Given the description of an element on the screen output the (x, y) to click on. 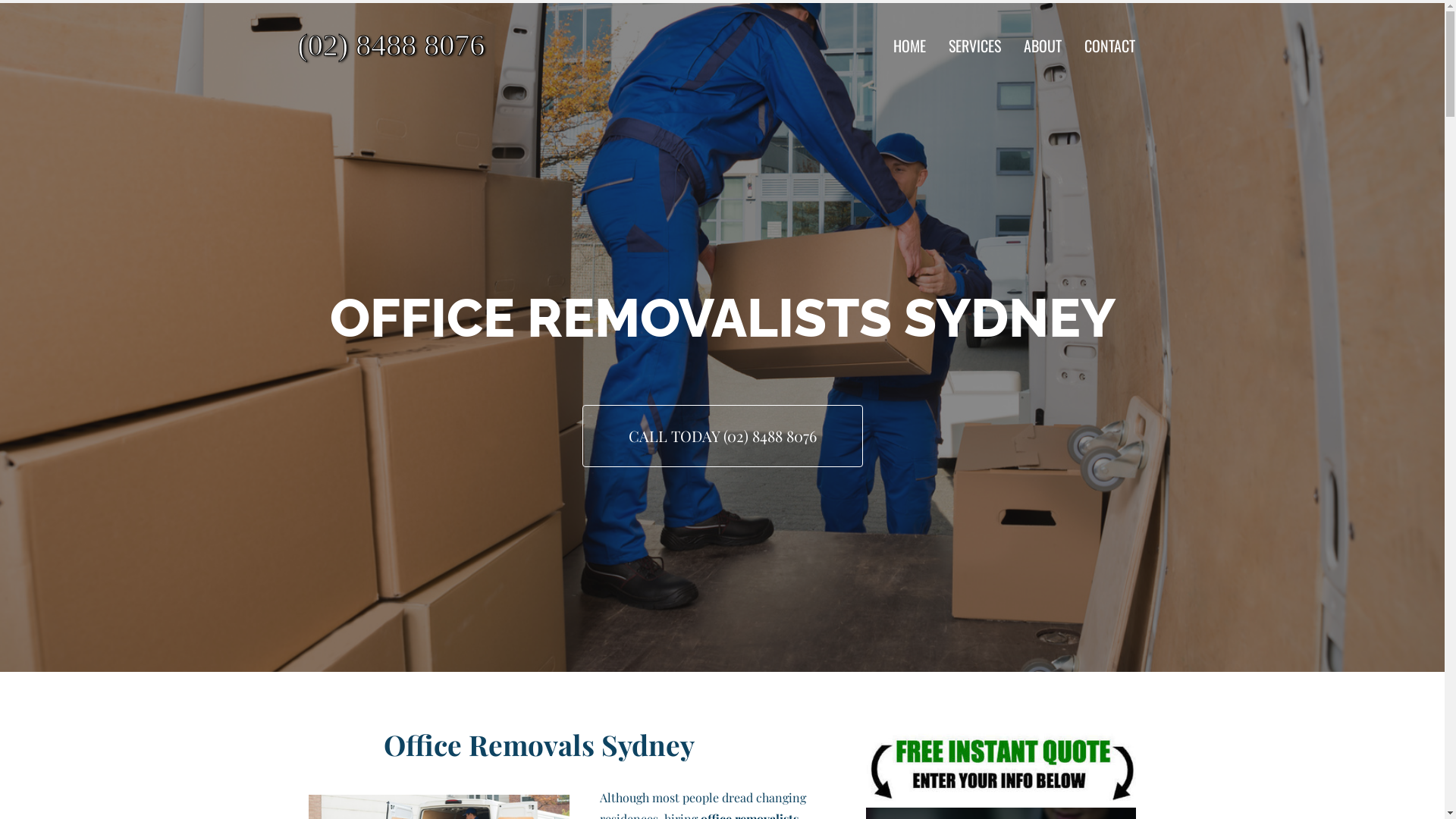
CONTACT Element type: text (1109, 45)
(02) 8488 8076 Element type: text (432, 45)
SERVICES Element type: text (974, 45)
free quo Element type: hover (1000, 765)
HOME Element type: text (909, 45)
CALL TODAY (02) 8488 8076 Element type: text (722, 435)
ABOUT Element type: text (1042, 45)
